Given the description of an element on the screen output the (x, y) to click on. 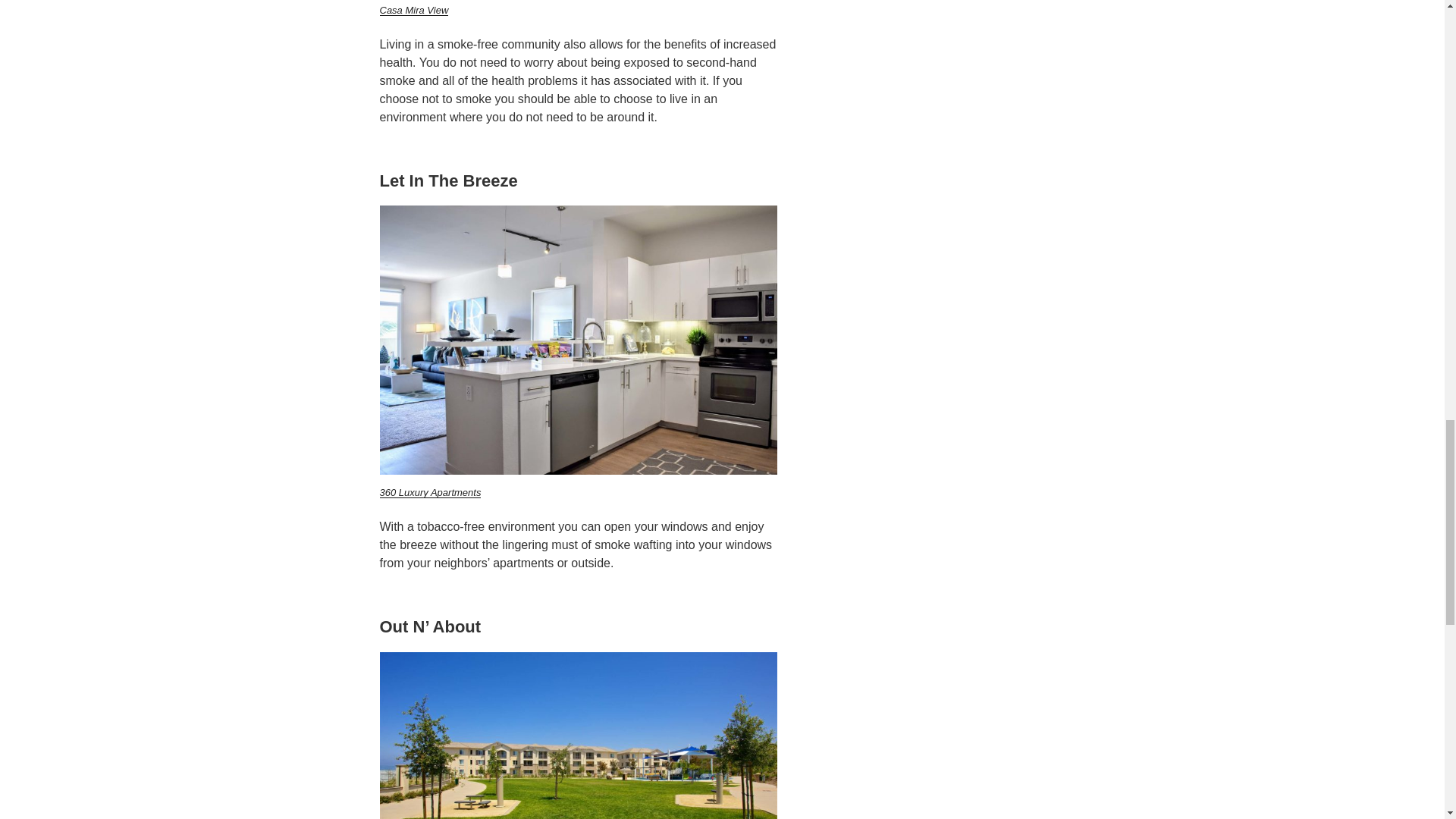
360 Luxury Apartments (429, 491)
Casa Mira View (413, 9)
